Given the description of an element on the screen output the (x, y) to click on. 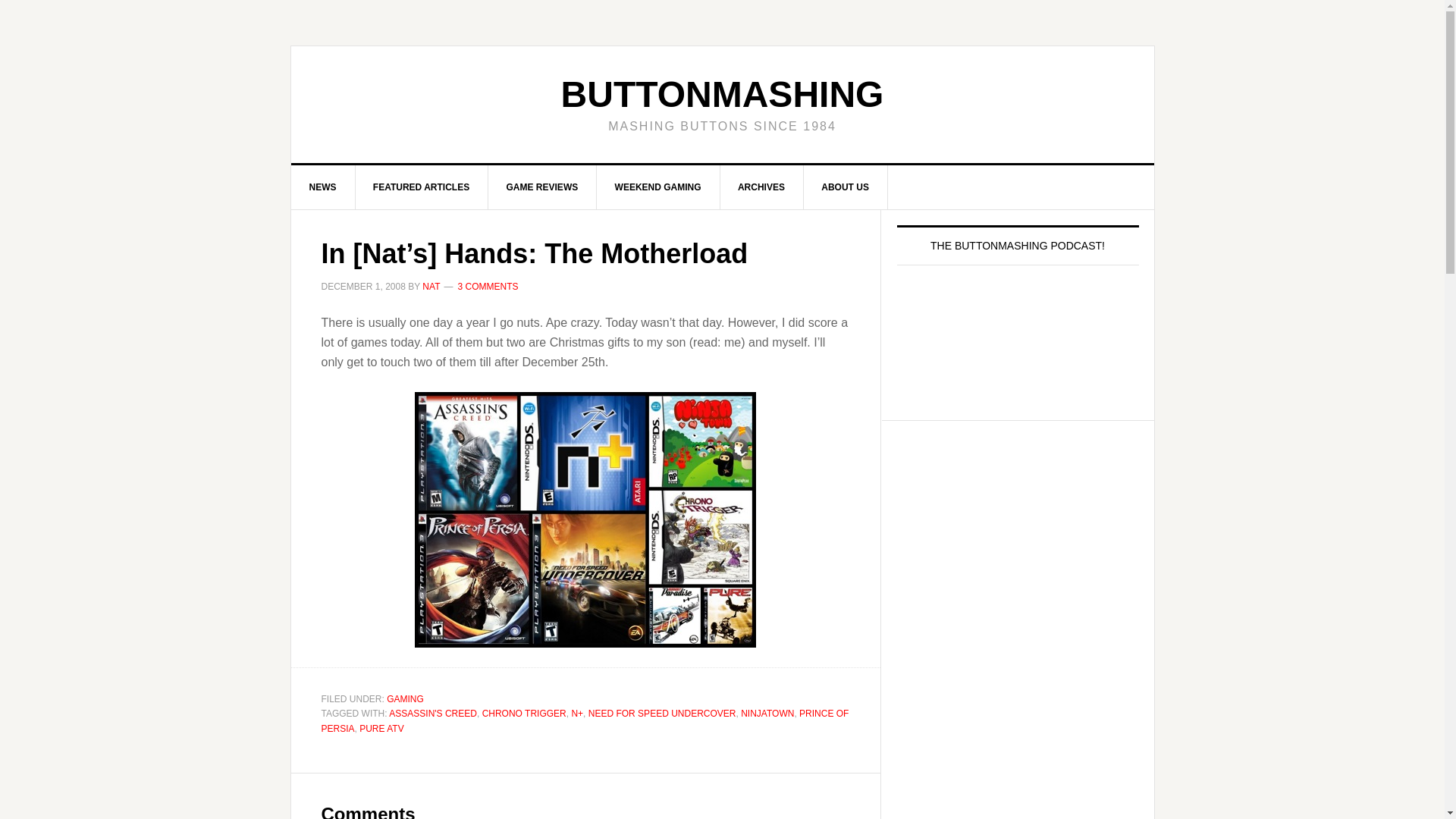
PURE ATV (381, 728)
NEWS (323, 187)
gamecovers (584, 519)
NINJATOWN (767, 713)
PRINCE OF PERSIA (584, 720)
BUTTONMASHING (721, 94)
GAME REVIEWS (541, 187)
GAMING (405, 697)
ARCHIVES (761, 187)
FEATURED ARTICLES (421, 187)
CHRONO TRIGGER (523, 713)
WEEKEND GAMING (658, 187)
ABOUT US (845, 187)
NAT (430, 286)
